Given the description of an element on the screen output the (x, y) to click on. 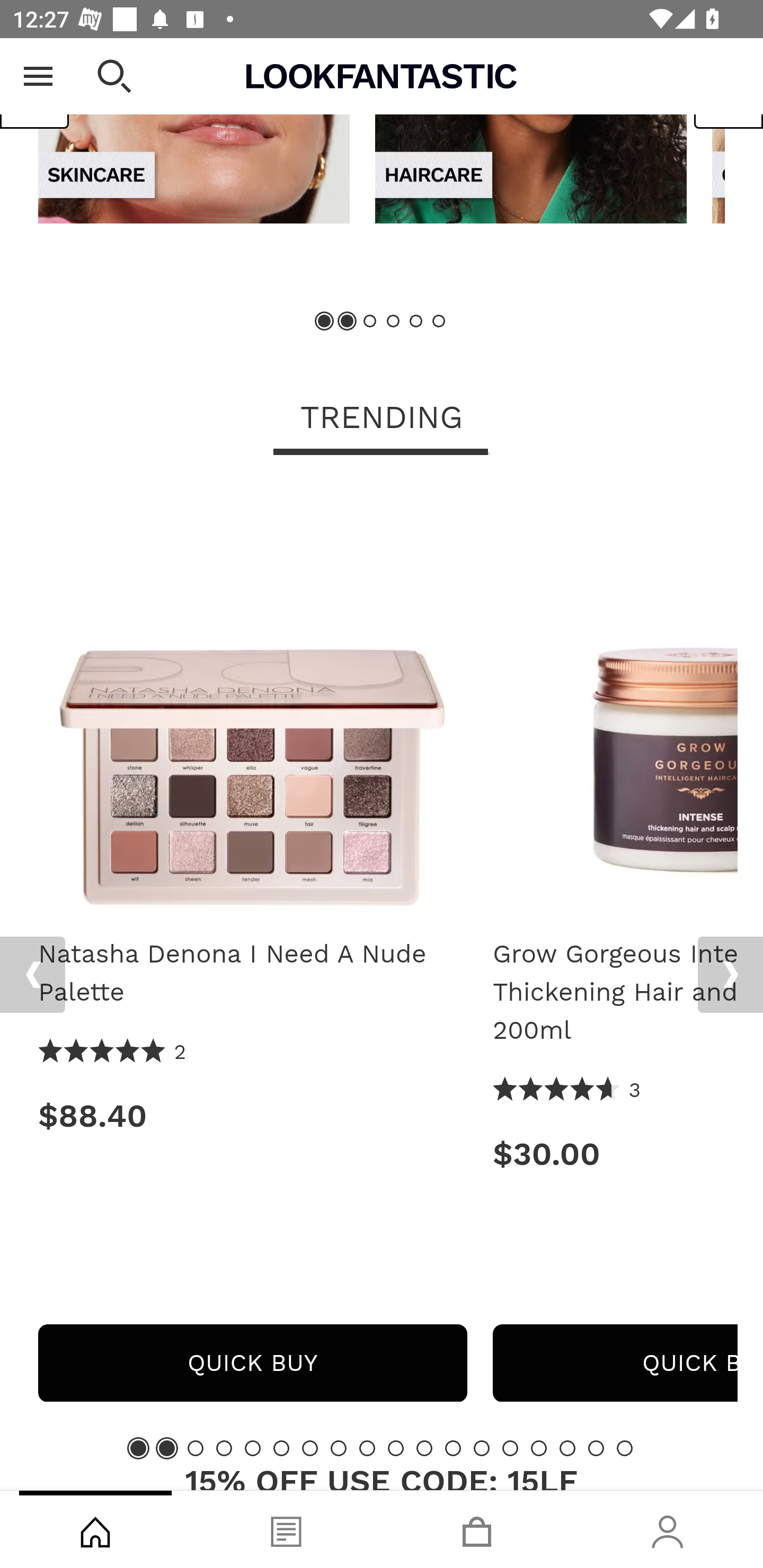
Previous (35, 89)
Showing Slide 1 (Current Item) (324, 322)
Showing Slide 2 (Current Item) (347, 322)
Slide 3 (369, 322)
Slide 4 (393, 322)
Slide 5 (415, 322)
Slide 6 (437, 322)
TRENDING (381, 419)
Natasha Denona I Need A Nude Palette (252, 701)
Natasha Denona I Need A Nude Palette (252, 973)
Previous (32, 975)
Next (730, 975)
5.0 Stars 2 Reviews (112, 1052)
4.67 Stars 3 Reviews (567, 1090)
Price: $88.40 (252, 1115)
Price: $30.00 (614, 1154)
QUICK BUY NATASHA DENONA I NEED A NUDE PALETTE (252, 1363)
Showing Slide 1 (Current Item) (138, 1447)
Showing Slide 2 (Current Item) (166, 1447)
Slide 3 (195, 1447)
Slide 4 (223, 1447)
Slide 5 (252, 1447)
Slide 6 (281, 1447)
Slide 7 (310, 1447)
Slide 8 (338, 1447)
Slide 9 (367, 1447)
Slide 10 (395, 1447)
Slide 11 (424, 1447)
Slide 12 (452, 1447)
Slide 13 (481, 1447)
Slide 14 (510, 1447)
Slide 15 (539, 1447)
Slide 16 (567, 1447)
Slide 17 (596, 1447)
Slide 18 (624, 1447)
Shop, tab, 1 of 4 (95, 1529)
Blog, tab, 2 of 4 (285, 1529)
Basket, tab, 3 of 4 (476, 1529)
Account, tab, 4 of 4 (667, 1529)
